Given the description of an element on the screen output the (x, y) to click on. 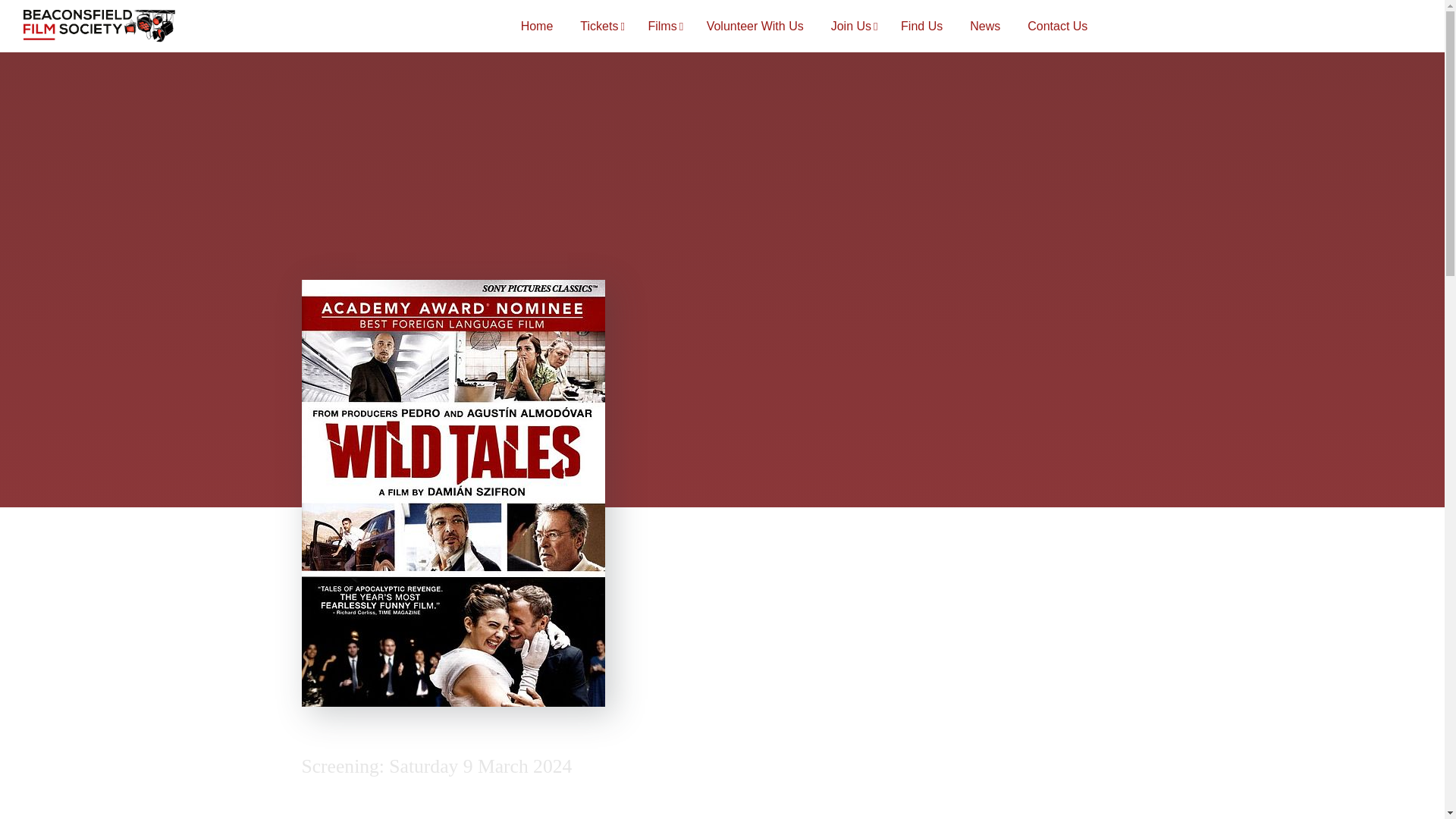
Find Us (922, 26)
Volunteer With Us (754, 26)
Beaconsfield Film Society (98, 25)
Home (537, 26)
Films (663, 26)
News (984, 26)
Join Us (852, 26)
Contact Us (1057, 26)
Tickets (599, 26)
